Given the description of an element on the screen output the (x, y) to click on. 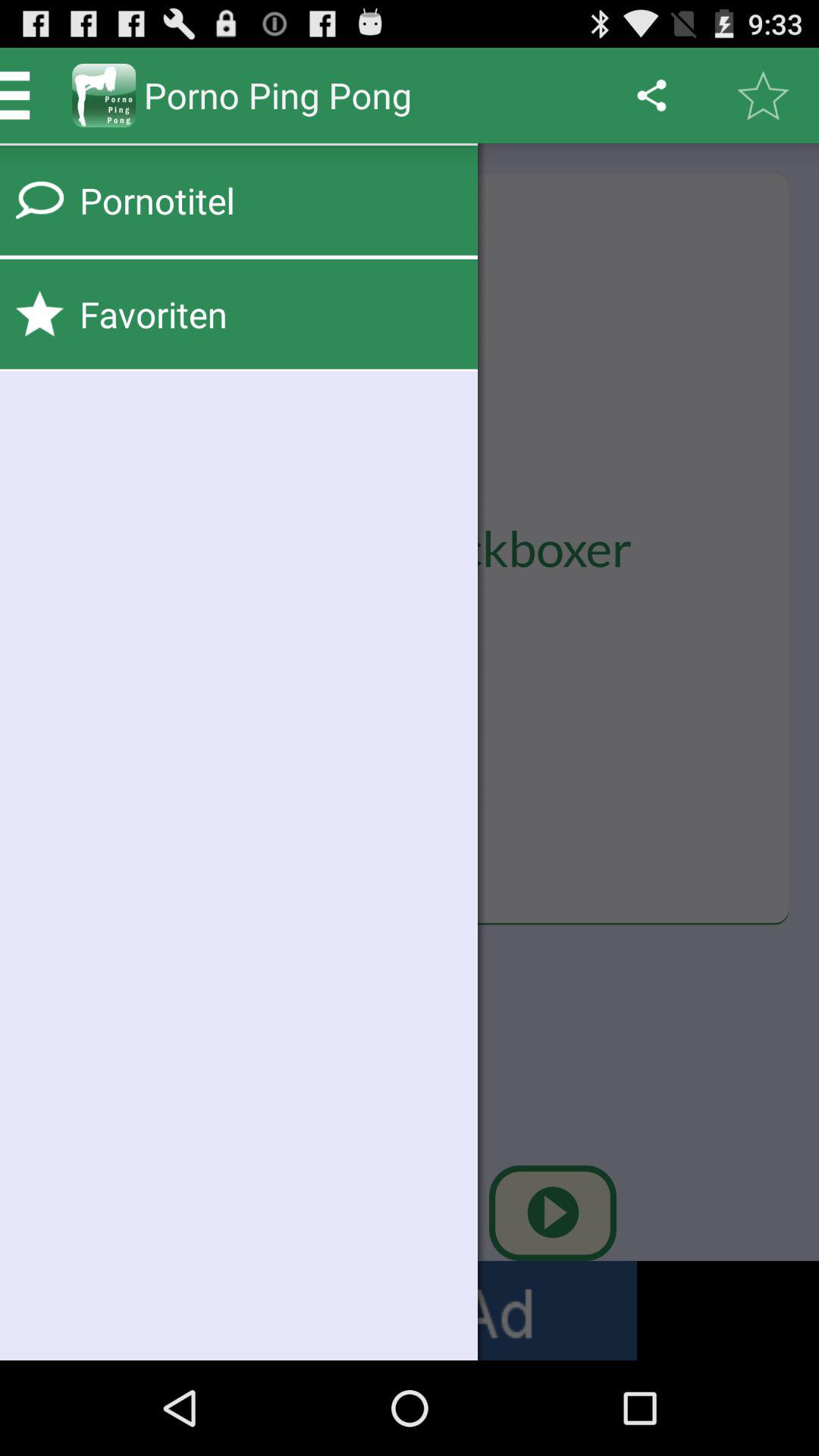
select the icon on the right next to the button which which is on the top left corner of the web page (103, 95)
click on the star button which is at top right corner of the web page (763, 95)
